Given the description of an element on the screen output the (x, y) to click on. 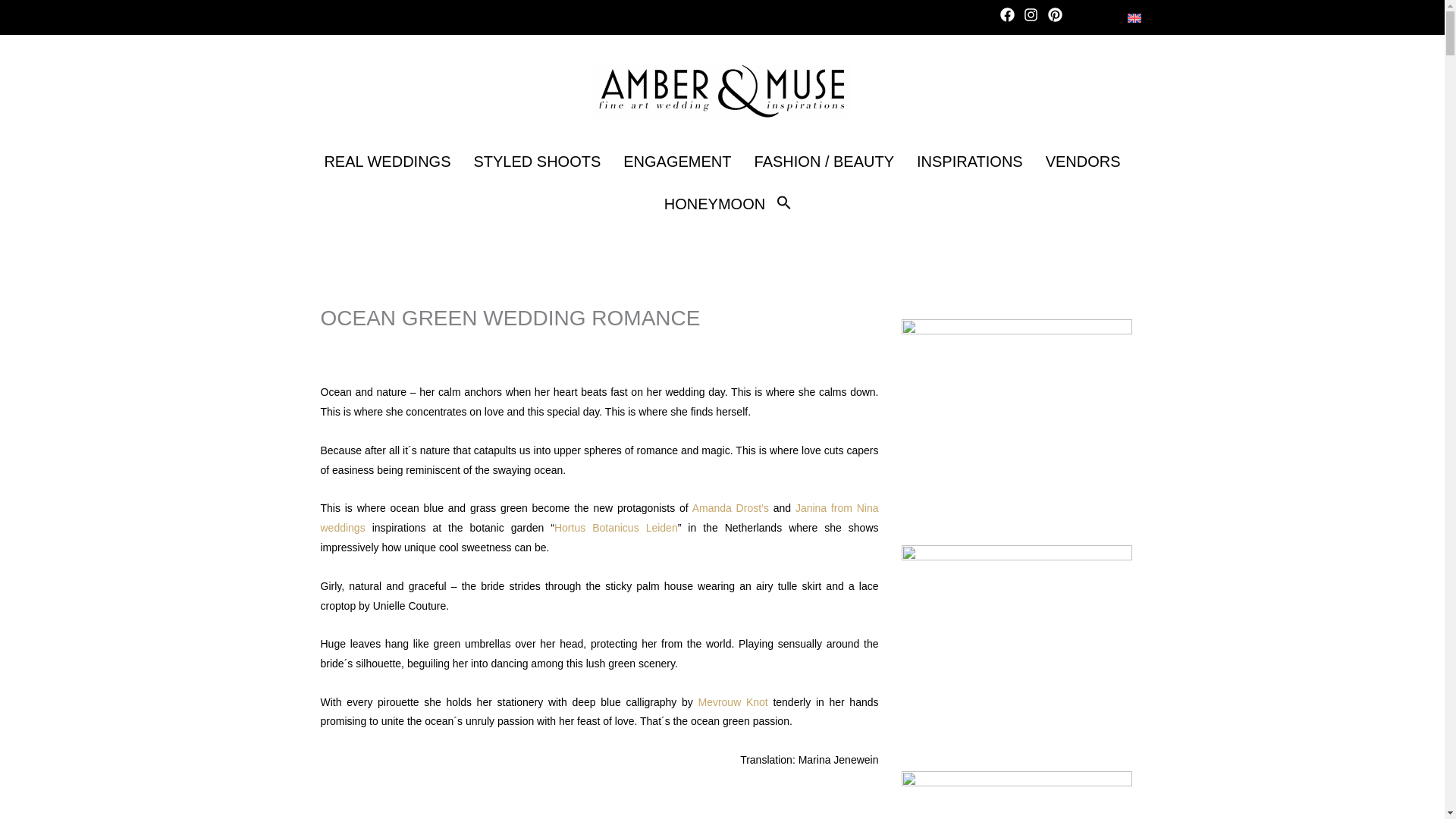
Instagram (1033, 17)
STYLED SHOOTS (536, 161)
ENGAGEMENT (676, 161)
Hortus Botanicus Leiden (616, 527)
REAL WEDDINGS (387, 161)
Pinterest (1058, 17)
Mevrouw Knot (732, 702)
INSPIRATIONS (969, 161)
VENDORS (1082, 161)
